Given the description of an element on the screen output the (x, y) to click on. 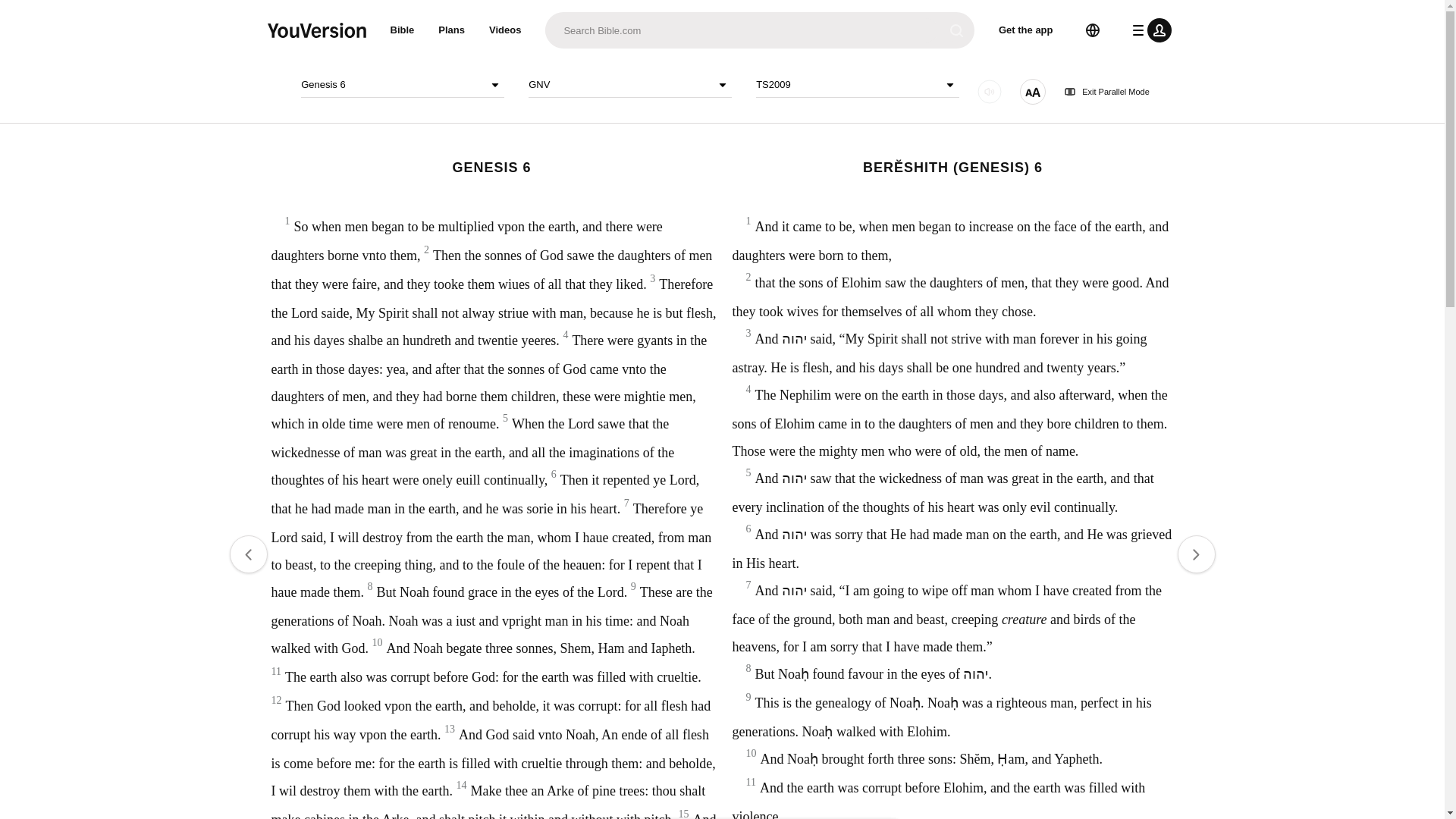
Exit Parallel Mode (1107, 91)
Videos (504, 29)
TS2009 (857, 84)
GNV (630, 84)
Genesis 6 (402, 84)
Bible (401, 29)
Plans (451, 29)
Get the app (1026, 29)
